Given the description of an element on the screen output the (x, y) to click on. 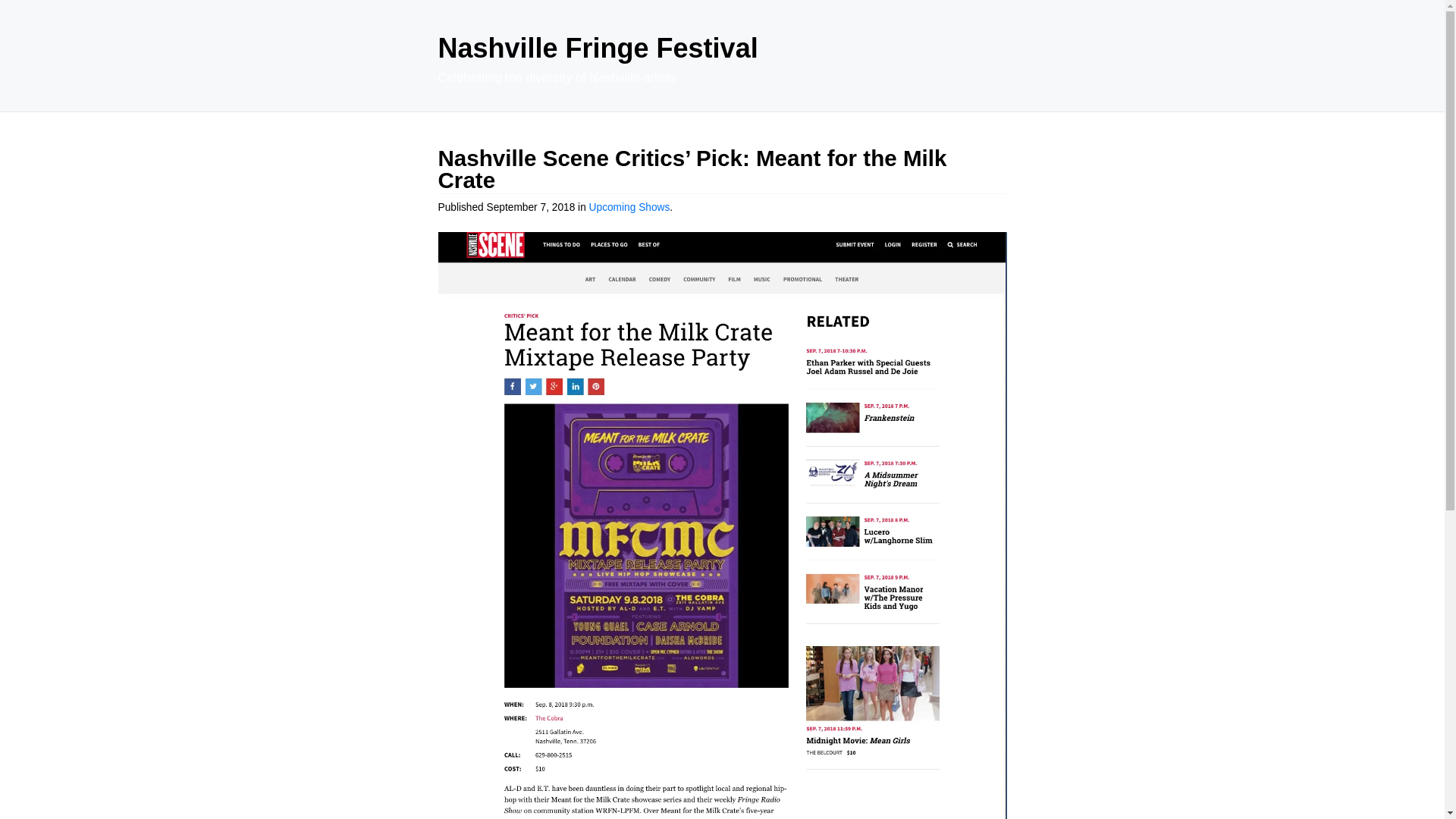
Upcoming Shows (629, 206)
Nashville Fringe Festival (598, 47)
